Given the description of an element on the screen output the (x, y) to click on. 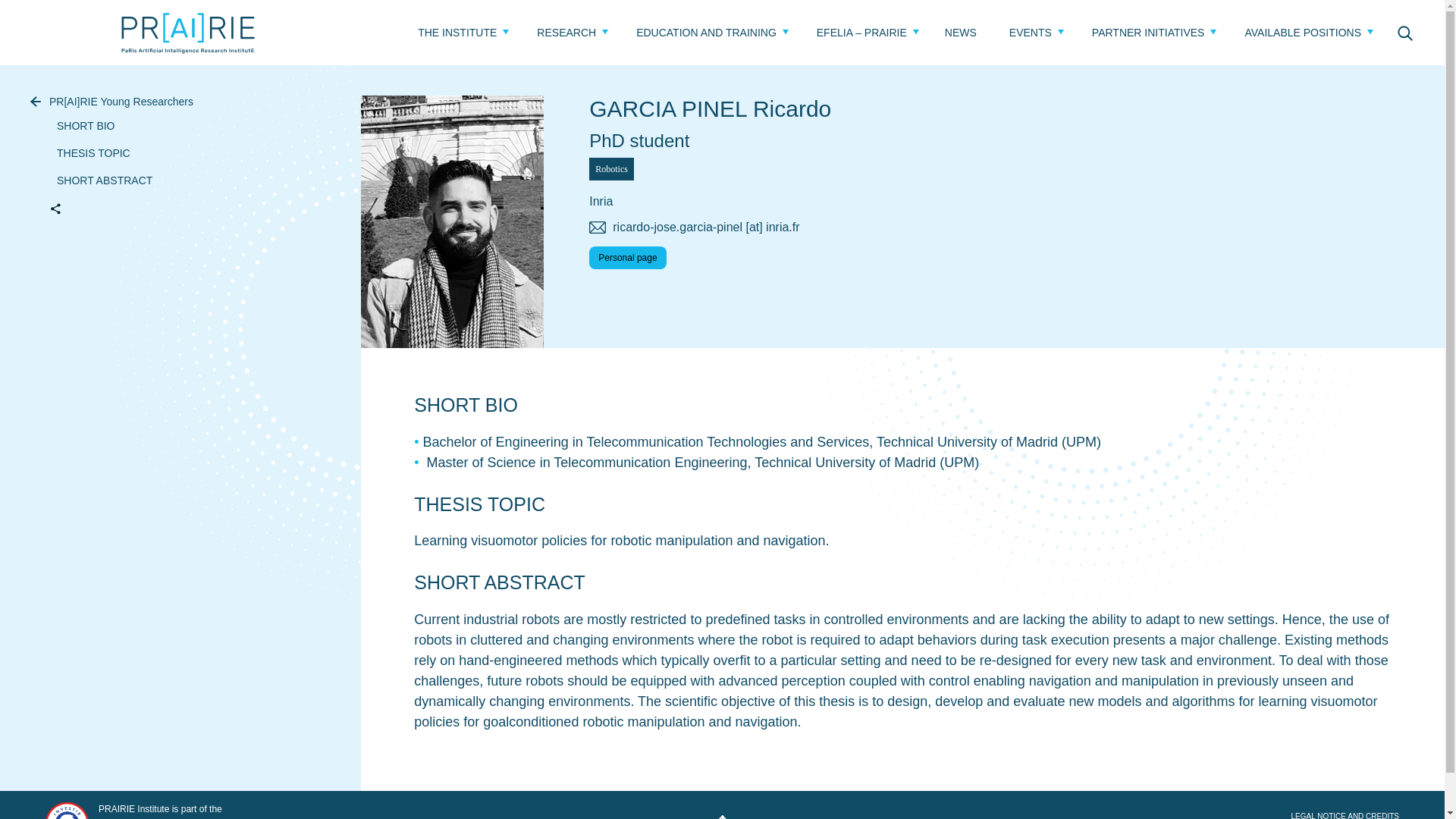
Search (1404, 31)
Retour sur la page 'Prairie Young Researchers' (172, 101)
Search (1404, 31)
Thesis topic (90, 152)
THE INSTITUTE (456, 31)
Short bio (82, 125)
EDUCATION AND TRAINING (706, 31)
RESEARCH (566, 31)
Short abstract (100, 180)
Search (1404, 31)
